Given the description of an element on the screen output the (x, y) to click on. 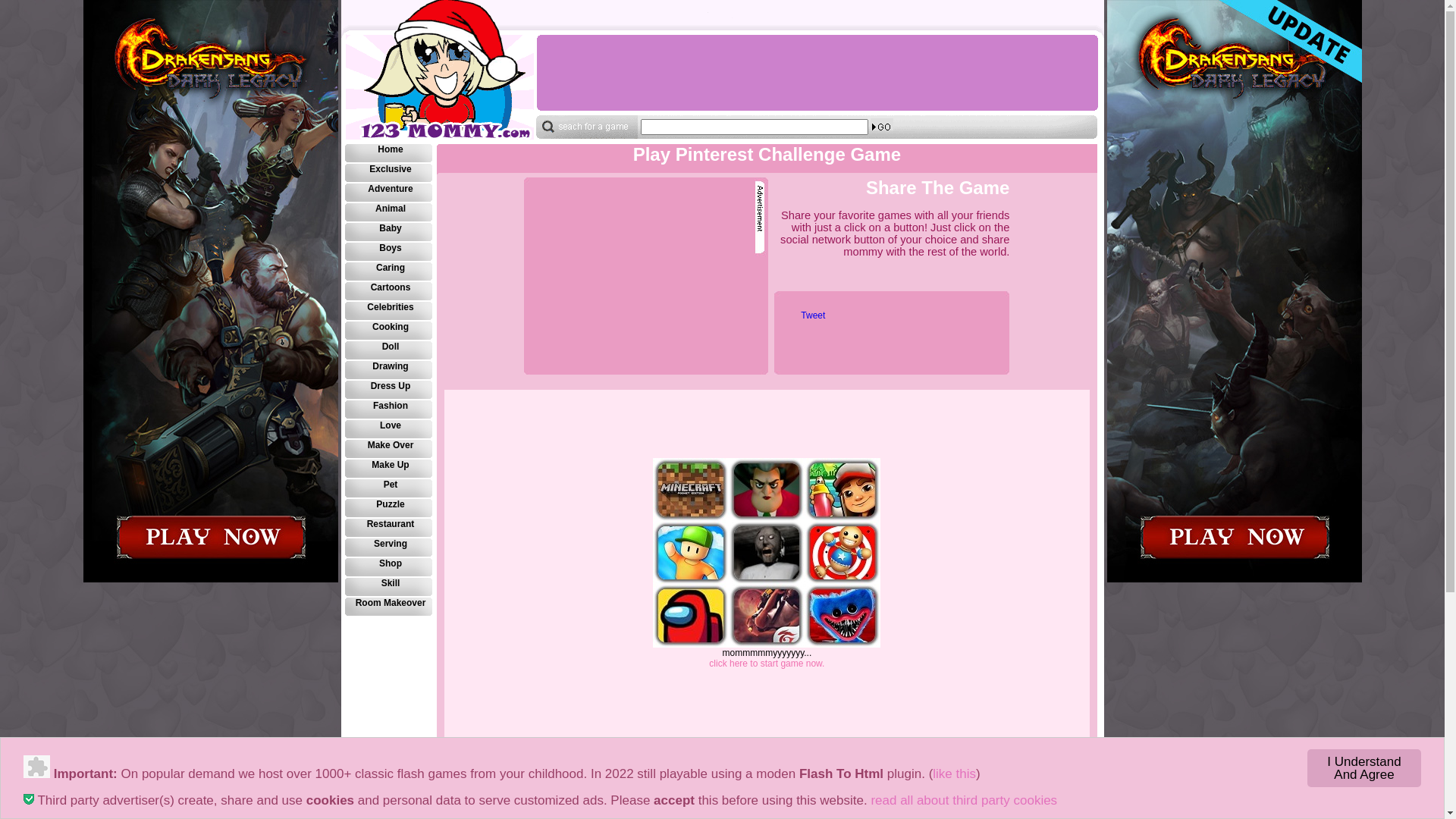
Puzzle Element type: text (388, 508)
Doll Element type: text (388, 350)
Serving Element type: text (388, 548)
Home Element type: text (388, 153)
I Understand And Agree Element type: text (1364, 768)
Restaurant Element type: text (388, 528)
Exclusive Element type: text (388, 173)
Baby Element type: text (388, 232)
Make Over Element type: text (388, 449)
Skill Element type: text (388, 587)
Fashion Element type: text (388, 410)
Shop Element type: text (388, 567)
Dress Up Element type: text (388, 390)
Boys Element type: text (388, 252)
Drawing Element type: text (388, 370)
Tweet Element type: text (812, 315)
Love Element type: text (388, 429)
like this Element type: text (953, 773)
read all about third party cookies Element type: text (963, 800)
Advertisement Element type: hover (815, 72)
Animal Element type: text (388, 212)
Make Up Element type: text (388, 469)
click here to start game now. Element type: text (766, 663)
Pet Element type: text (388, 488)
Adventure Element type: text (388, 193)
Cartoons Element type: text (388, 291)
Caring Element type: text (388, 272)
Celebrities Element type: text (388, 311)
Advertisement Element type: hover (641, 275)
Room Makeover Element type: text (388, 607)
Cooking Element type: text (388, 331)
